Given the description of an element on the screen output the (x, y) to click on. 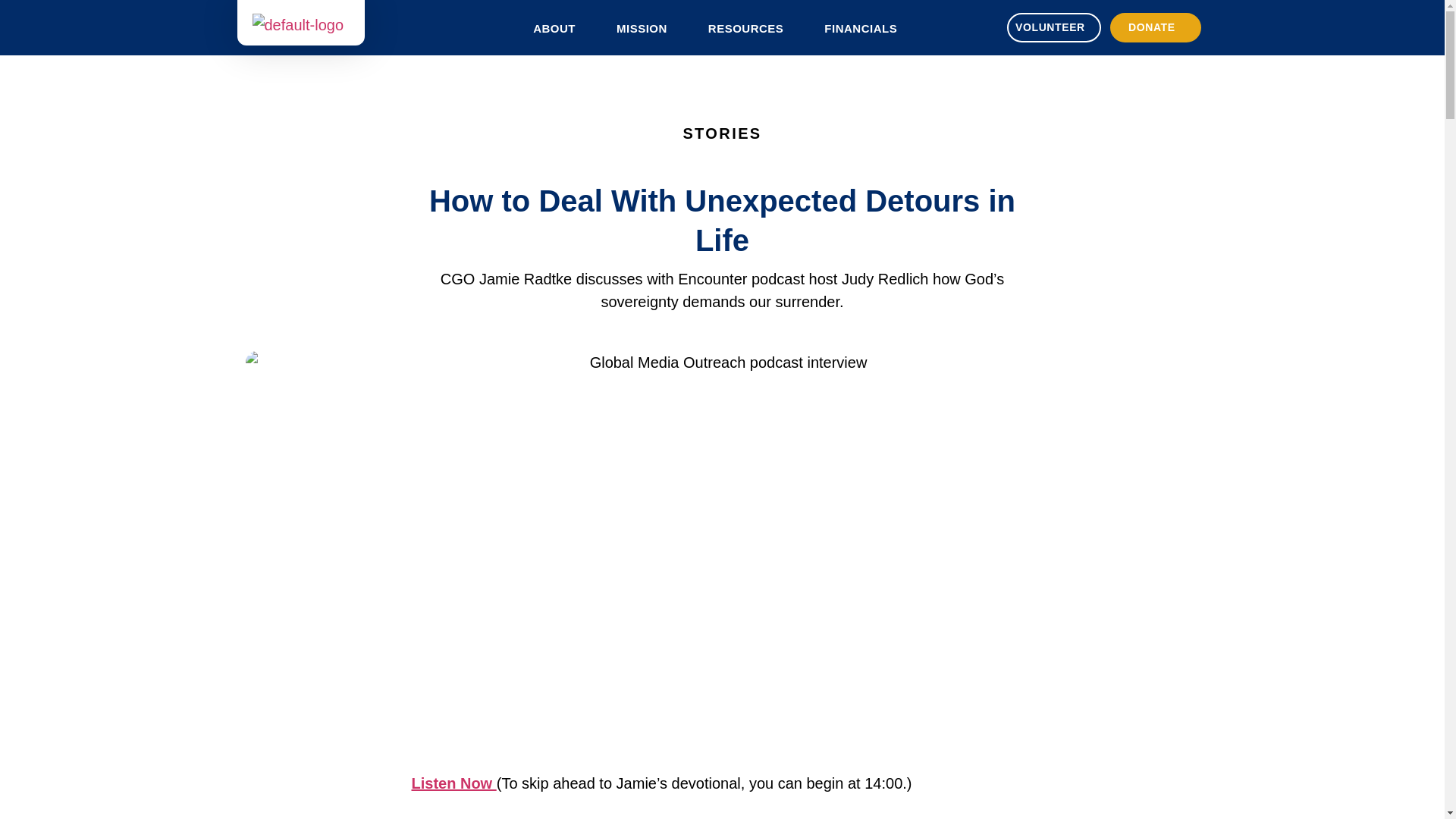
VOLUNTEER (1053, 27)
MISSION (645, 28)
FINANCIALS (864, 28)
ABOUT (557, 28)
RESOURCES (749, 28)
DONATE (1155, 27)
